Given the description of an element on the screen output the (x, y) to click on. 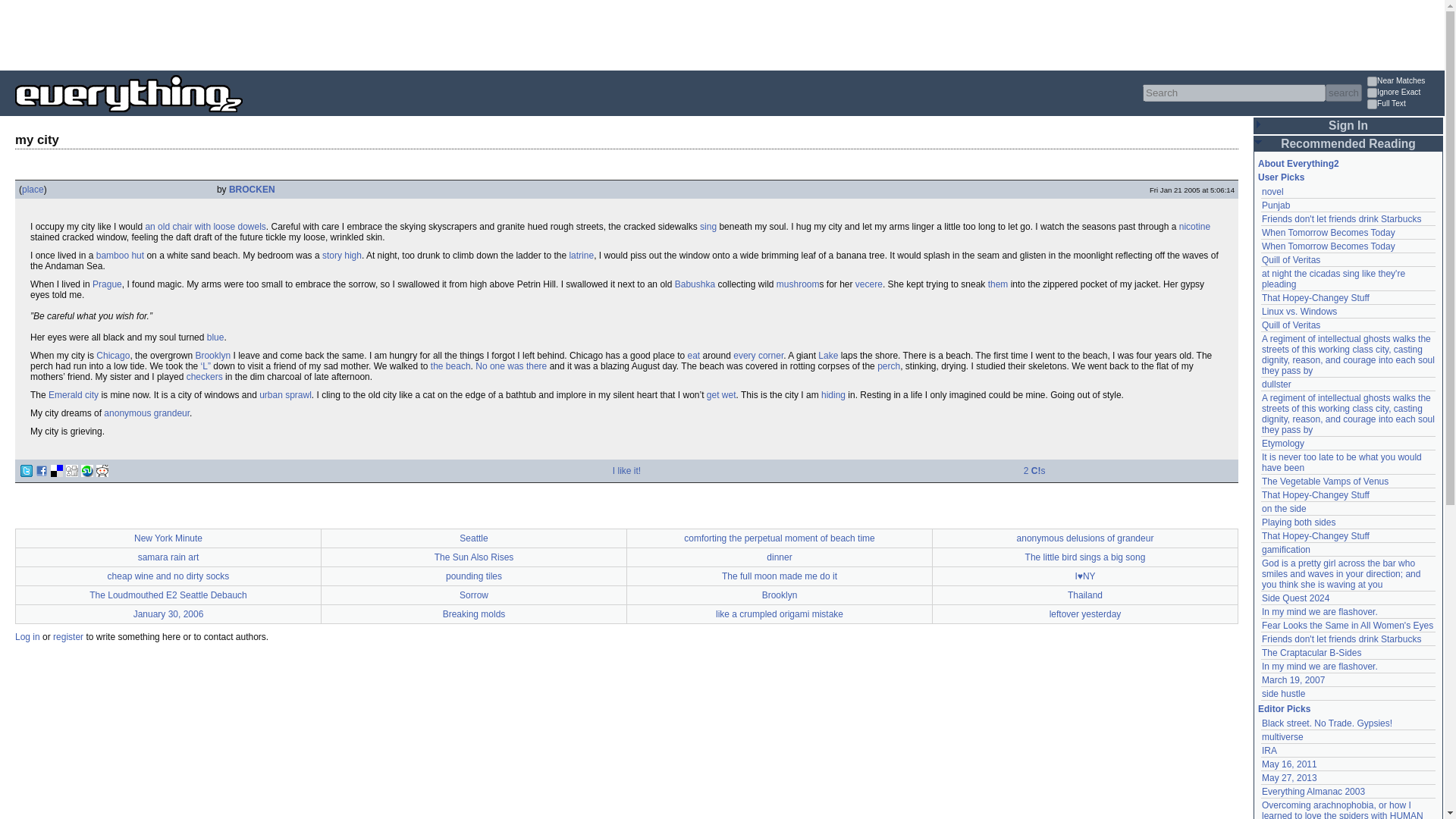
Everything (242, 117)
vecere (869, 284)
nicotine (1194, 226)
mushroom (797, 284)
secrets (998, 284)
No one was there (511, 366)
Chicago (112, 355)
hiding (833, 394)
an old chair with loose dowels (204, 226)
Advertisement (275, 33)
The little Prince (341, 255)
Babushka (694, 284)
Smoke 'em if you got 'em (1194, 226)
Emerald city (73, 394)
search (1342, 92)
